Given the description of an element on the screen output the (x, y) to click on. 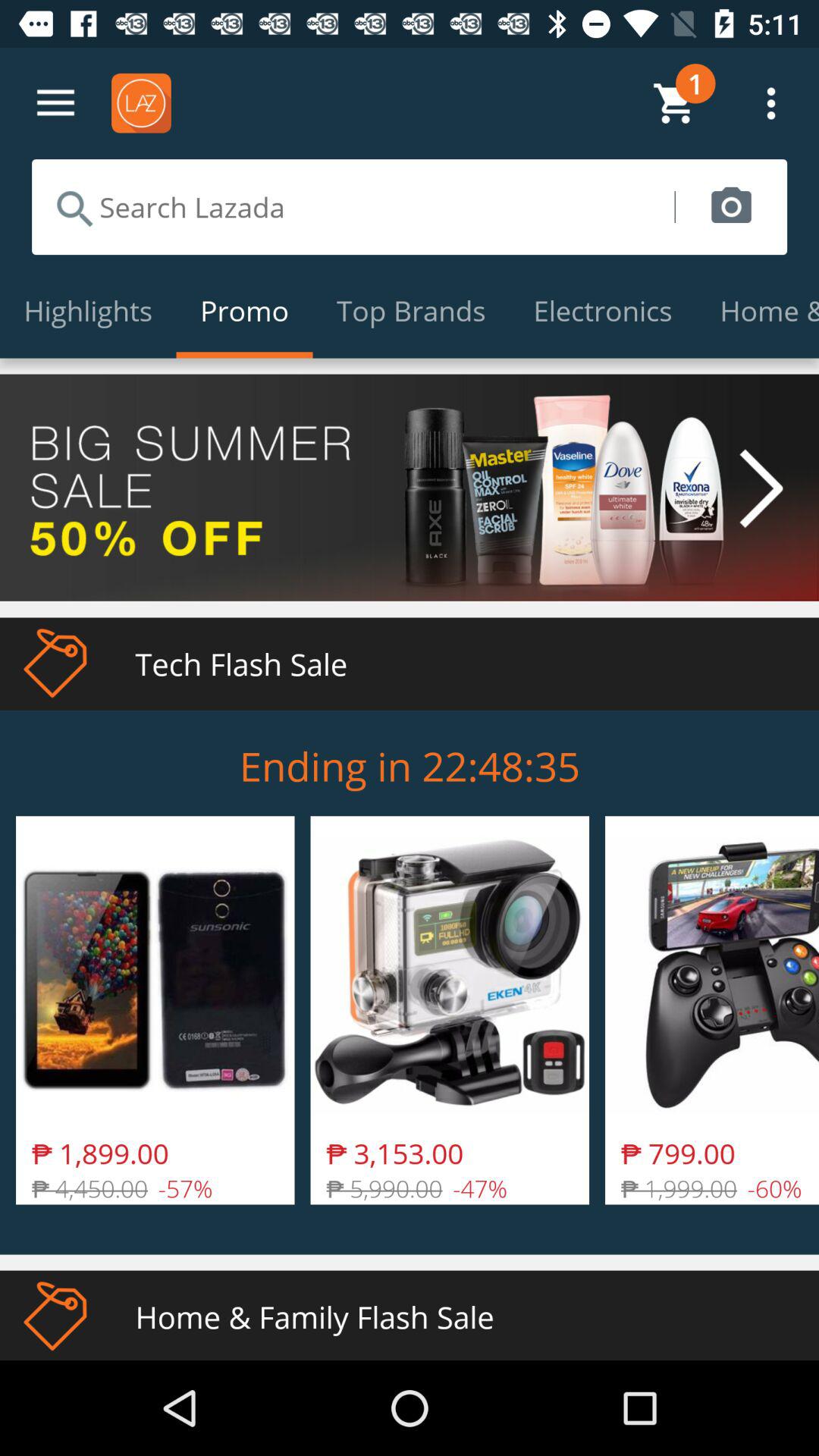
press icon above tech flash sale icon (409, 487)
